Given the description of an element on the screen output the (x, y) to click on. 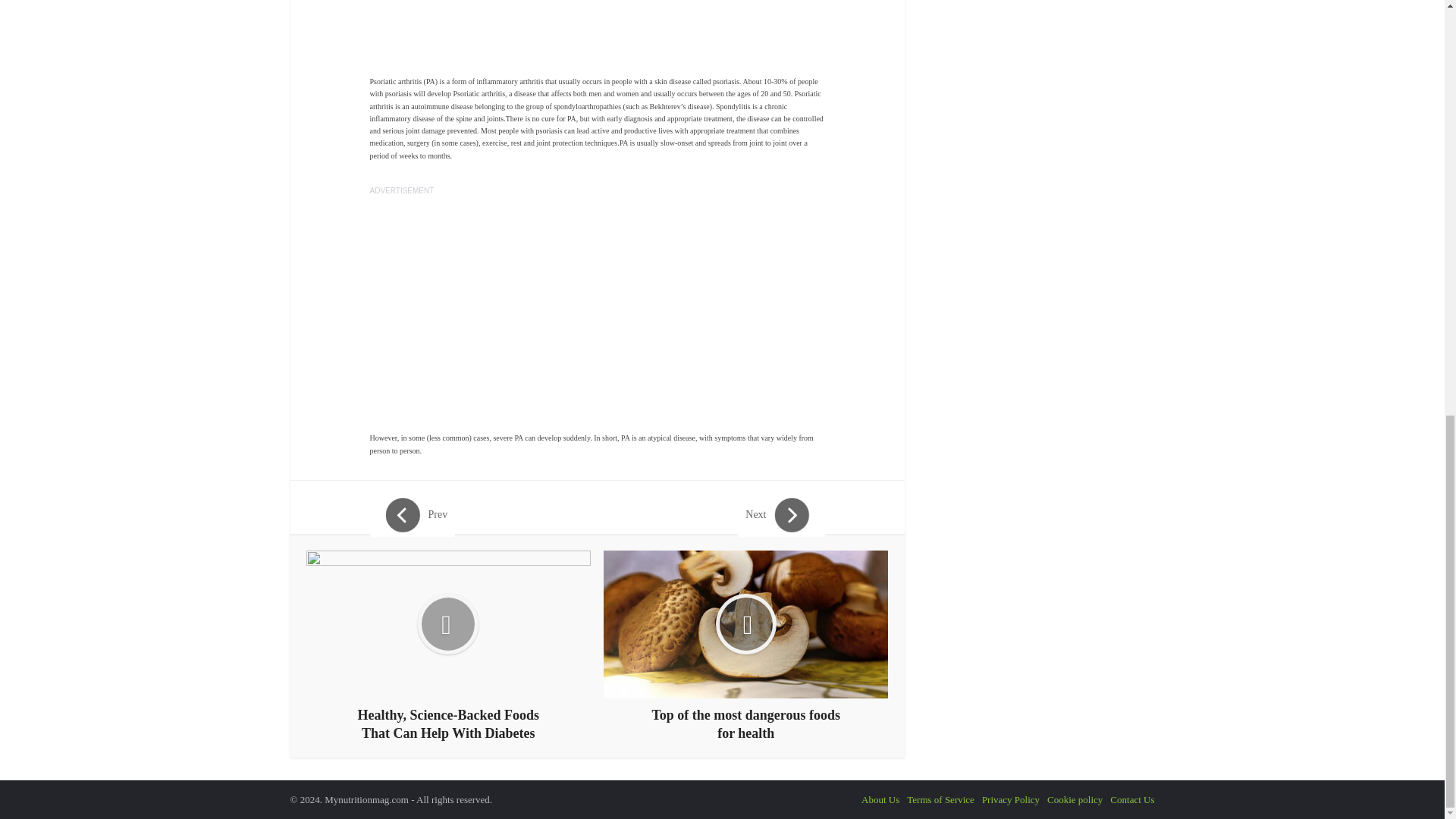
Advertisement (597, 303)
Contact Us (1131, 799)
Next (781, 515)
Terms of Service (940, 799)
About Us (880, 799)
Prev (412, 515)
Cookie policy (1074, 799)
Healthy, Science-Backed Foods That Can Help With Diabetes (448, 646)
Advertisement (597, 26)
Top of the most dangerous foods for health (746, 646)
